Given the description of an element on the screen output the (x, y) to click on. 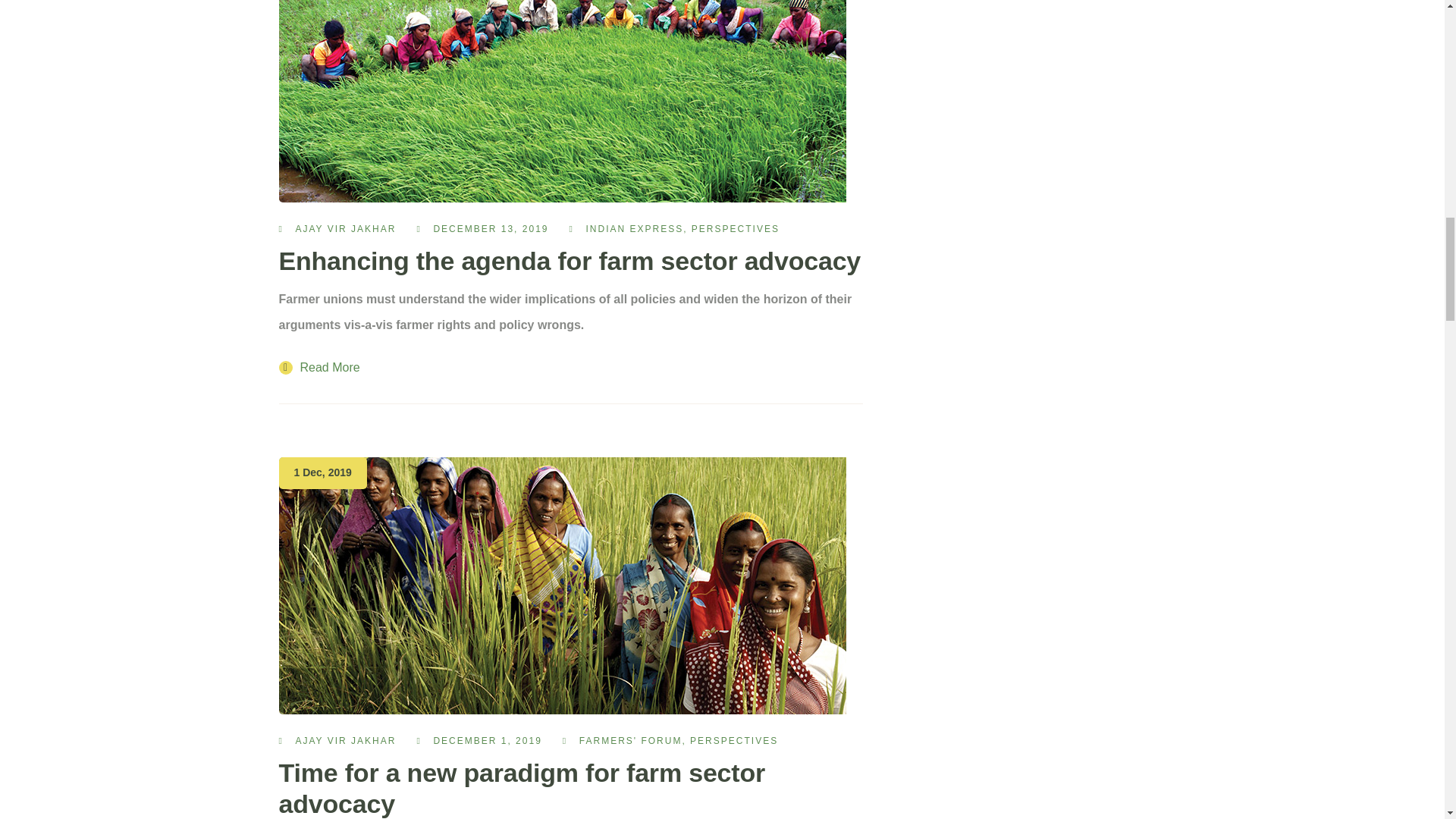
PERSPECTIVES (734, 228)
View all posts by Ajay Vir Jakhar (345, 740)
View all posts by Ajay Vir Jakhar (345, 228)
Read More (319, 367)
AJAY VIR JAKHAR (345, 228)
INDIAN EXPRESS (633, 228)
